Given the description of an element on the screen output the (x, y) to click on. 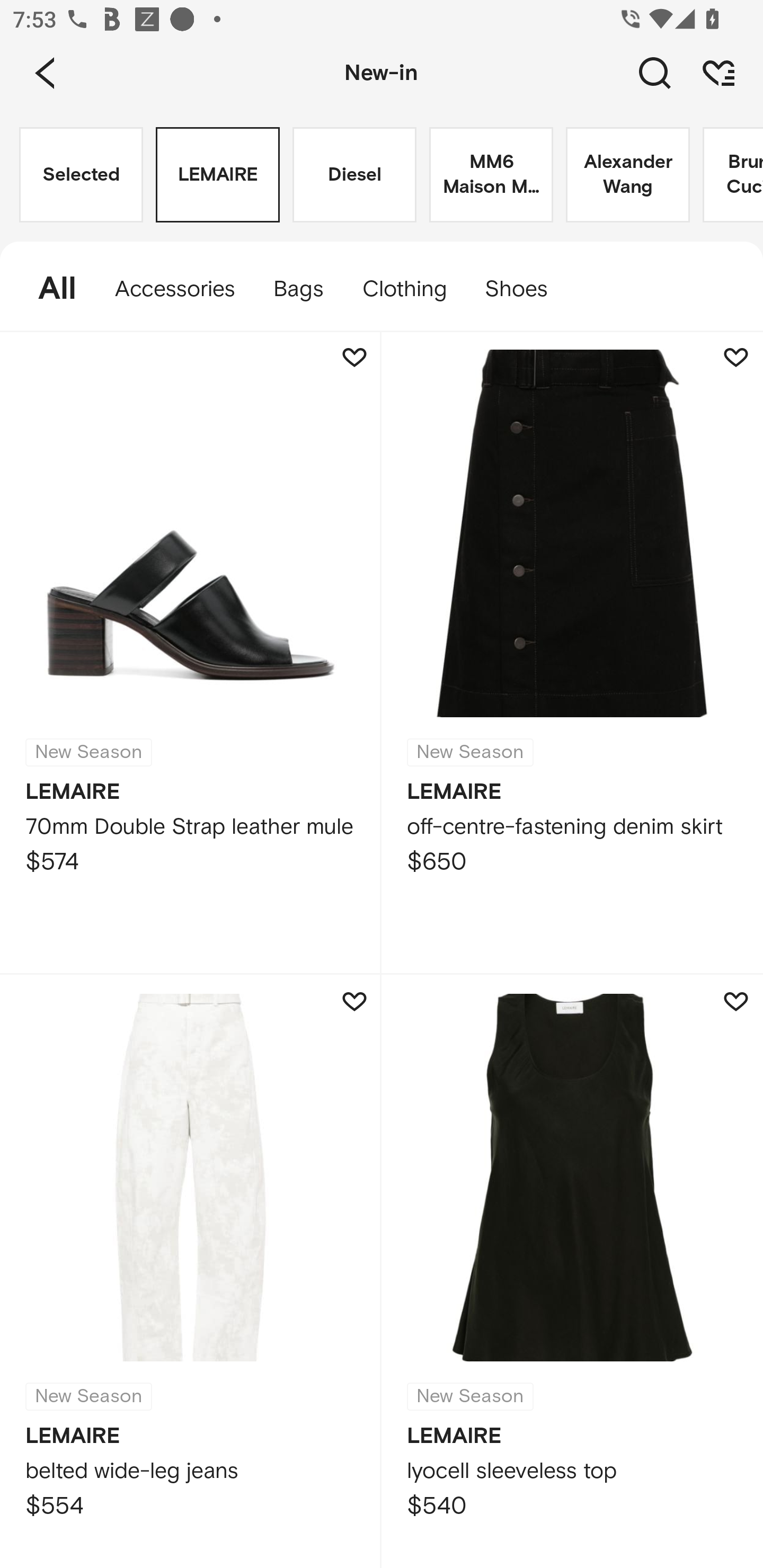
Selected (81, 174)
LEMAIRE (217, 174)
Diesel (354, 174)
MM6 Maison Margiela (490, 174)
Alexander Wang (627, 174)
All (47, 288)
Accessories (174, 288)
Bags (298, 288)
Clothing (403, 288)
Shoes (525, 288)
New Season LEMAIRE belted wide-leg jeans $554 (190, 1271)
New Season LEMAIRE lyocell sleeveless top $540 (572, 1271)
